Given the description of an element on the screen output the (x, y) to click on. 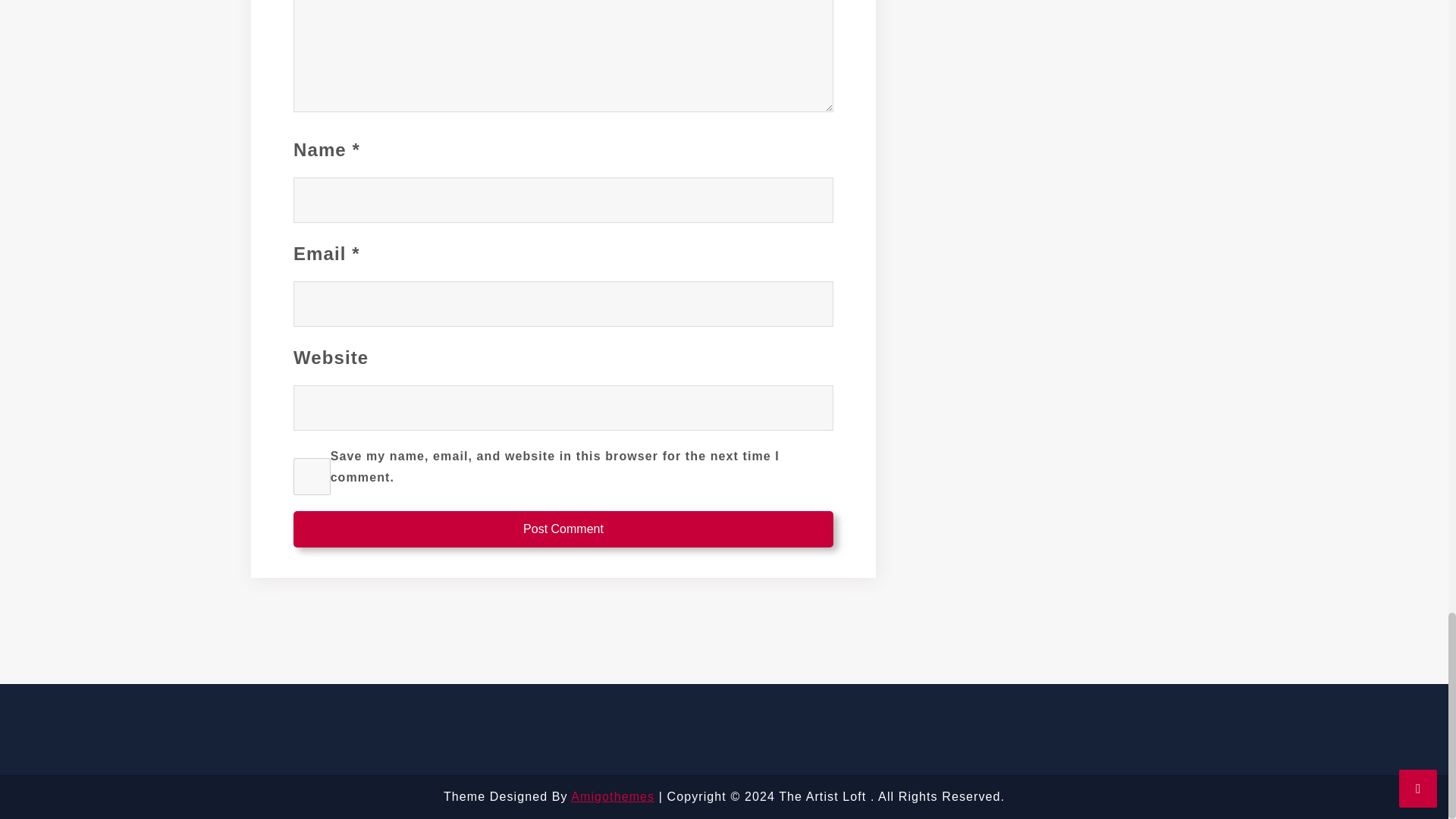
yes (312, 476)
Post Comment (563, 529)
